Given the description of an element on the screen output the (x, y) to click on. 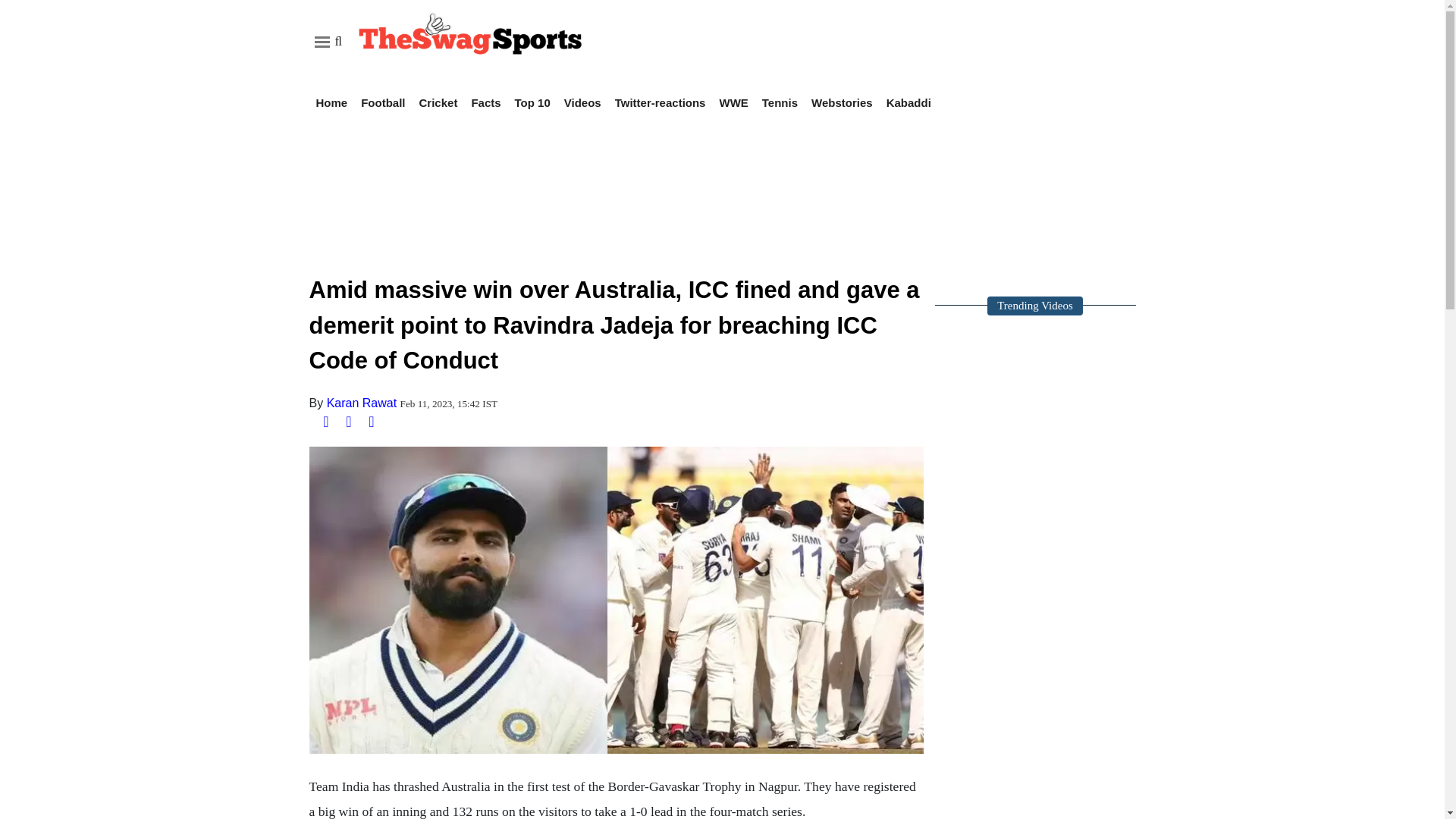
Videos (582, 102)
Facts (485, 102)
Webstories (841, 102)
Cricket (438, 102)
Kabaddi (908, 102)
Karan Rawat (361, 401)
Tennis (779, 102)
Twitter-reactions (660, 102)
Top 10 (532, 102)
Home (331, 102)
Football (382, 102)
WWE (733, 102)
